Given the description of an element on the screen output the (x, y) to click on. 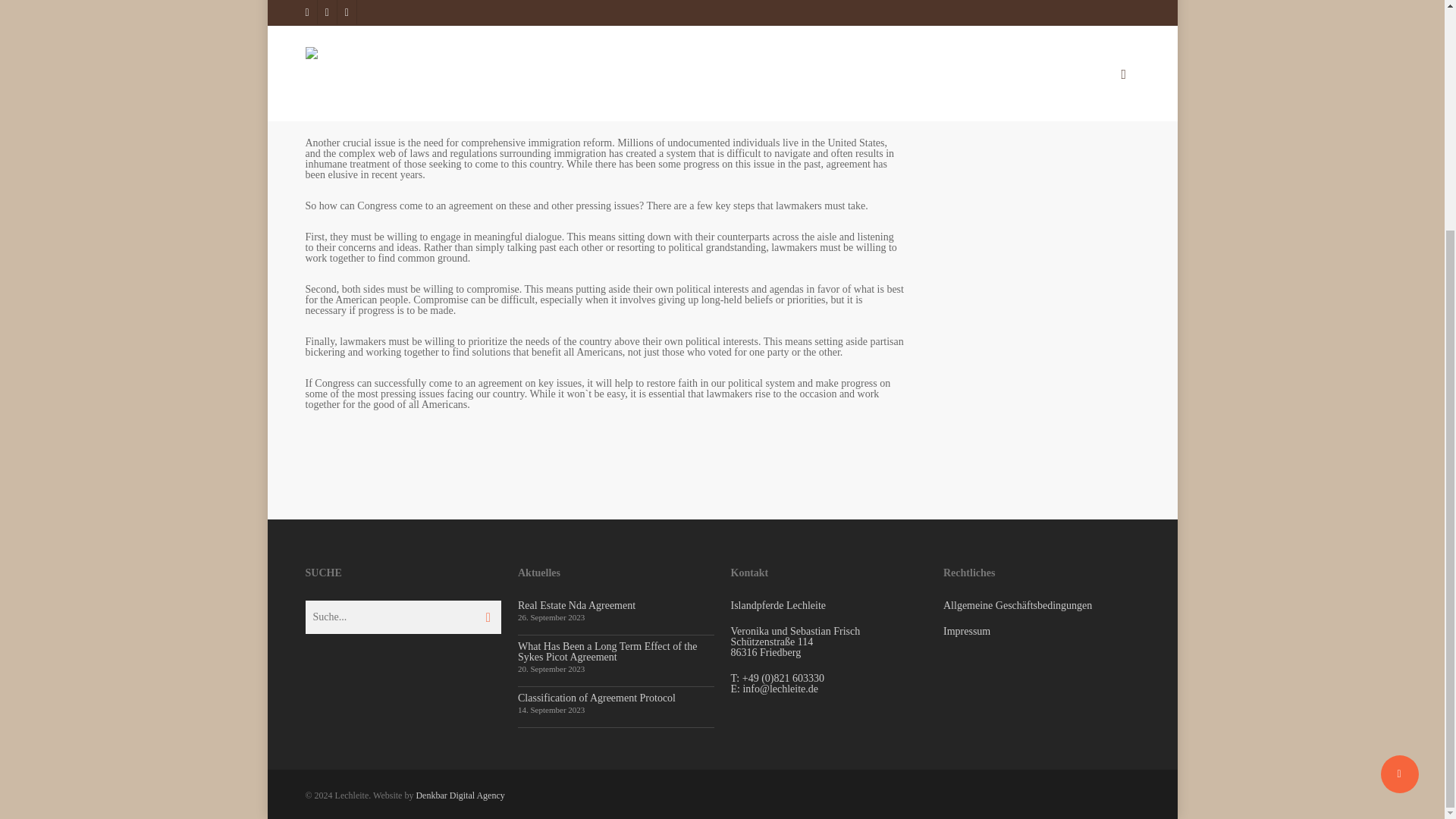
Real Estate Nda Agreement (576, 604)
Impressum (966, 631)
Denkbar Digital Agency (458, 795)
Suche nach: (402, 616)
Classification of Agreement Protocol (596, 697)
Suche nach: (1041, 36)
